Given the description of an element on the screen output the (x, y) to click on. 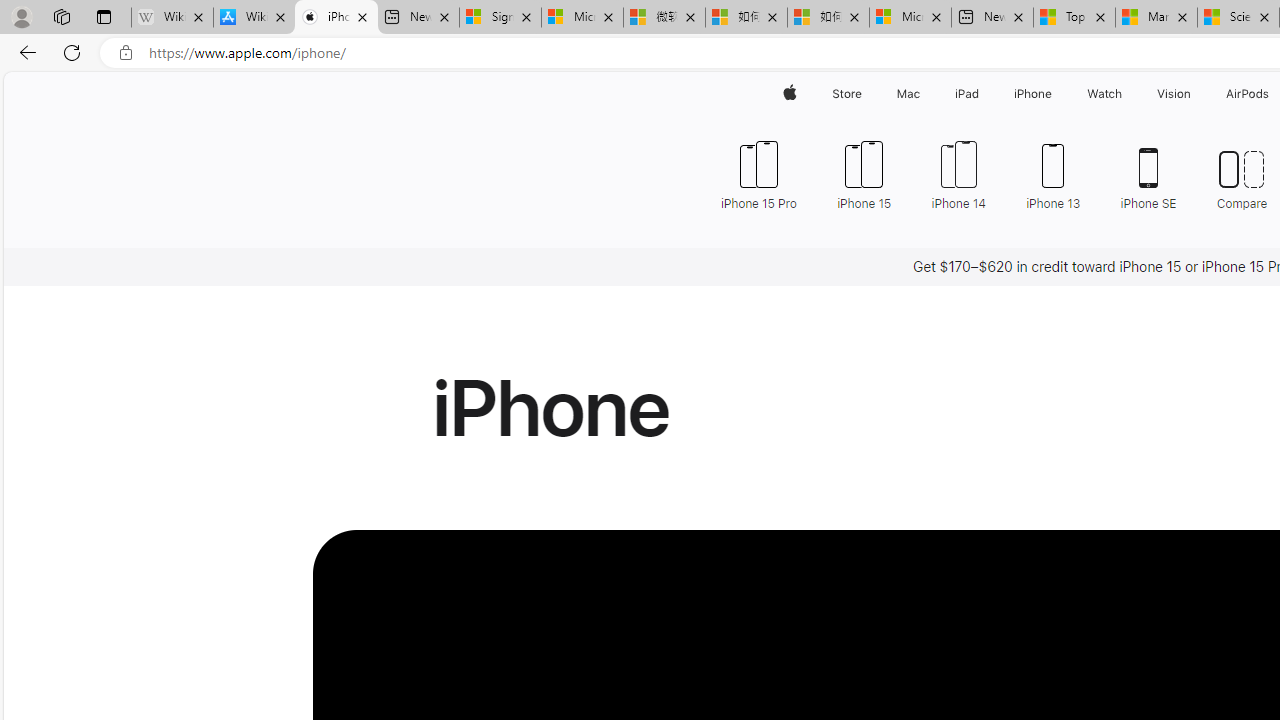
Compare (1242, 173)
Mac (908, 93)
Class: globalnav-submenu-trigger-item (1195, 93)
Vision (1174, 93)
Microsoft account | Account Checkup (910, 17)
Store (846, 93)
iPhone 14 (958, 173)
Watch menu (1125, 93)
Store (846, 93)
Apple (789, 93)
